Given the description of an element on the screen output the (x, y) to click on. 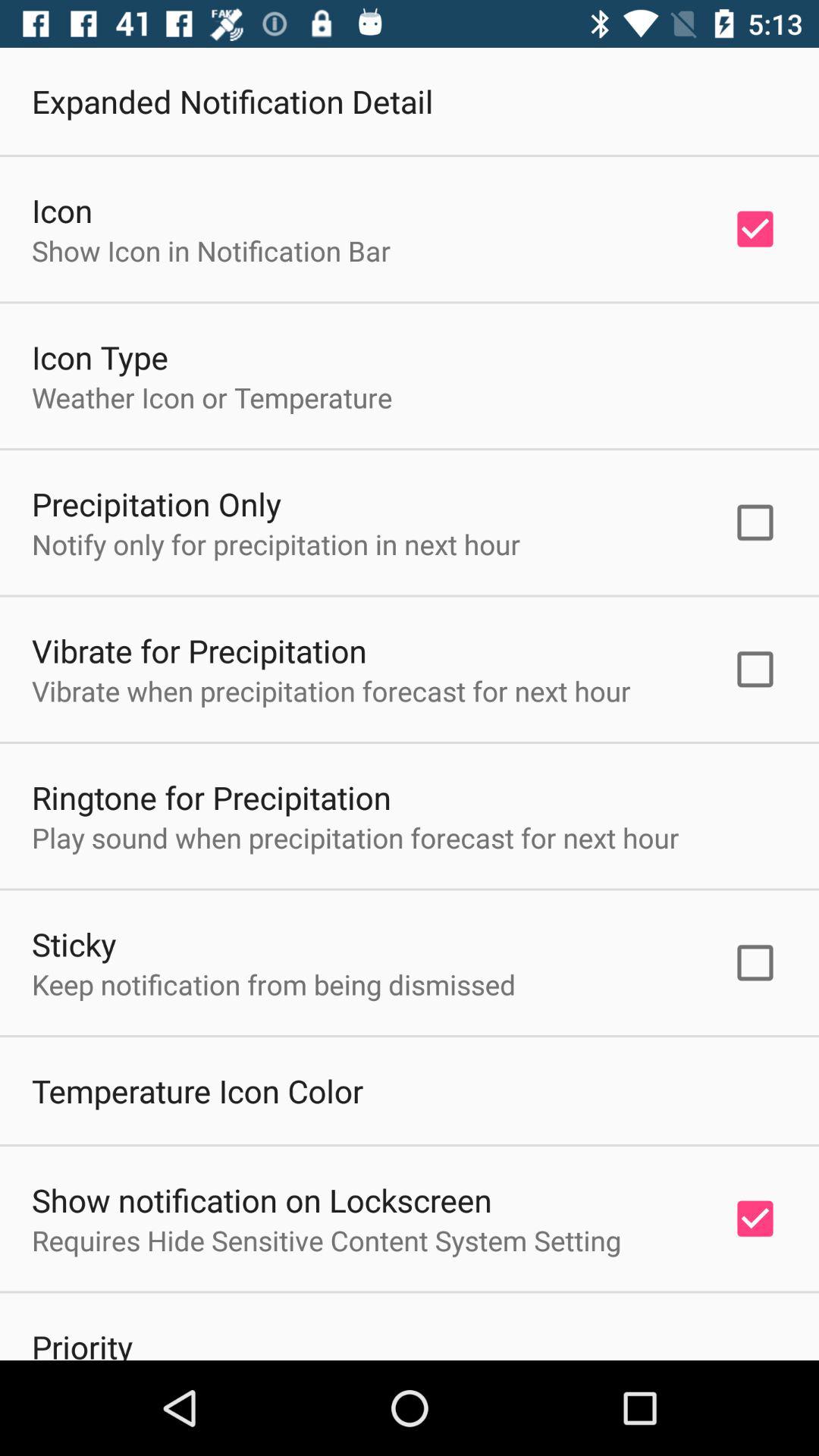
jump until sticky (73, 943)
